Given the description of an element on the screen output the (x, y) to click on. 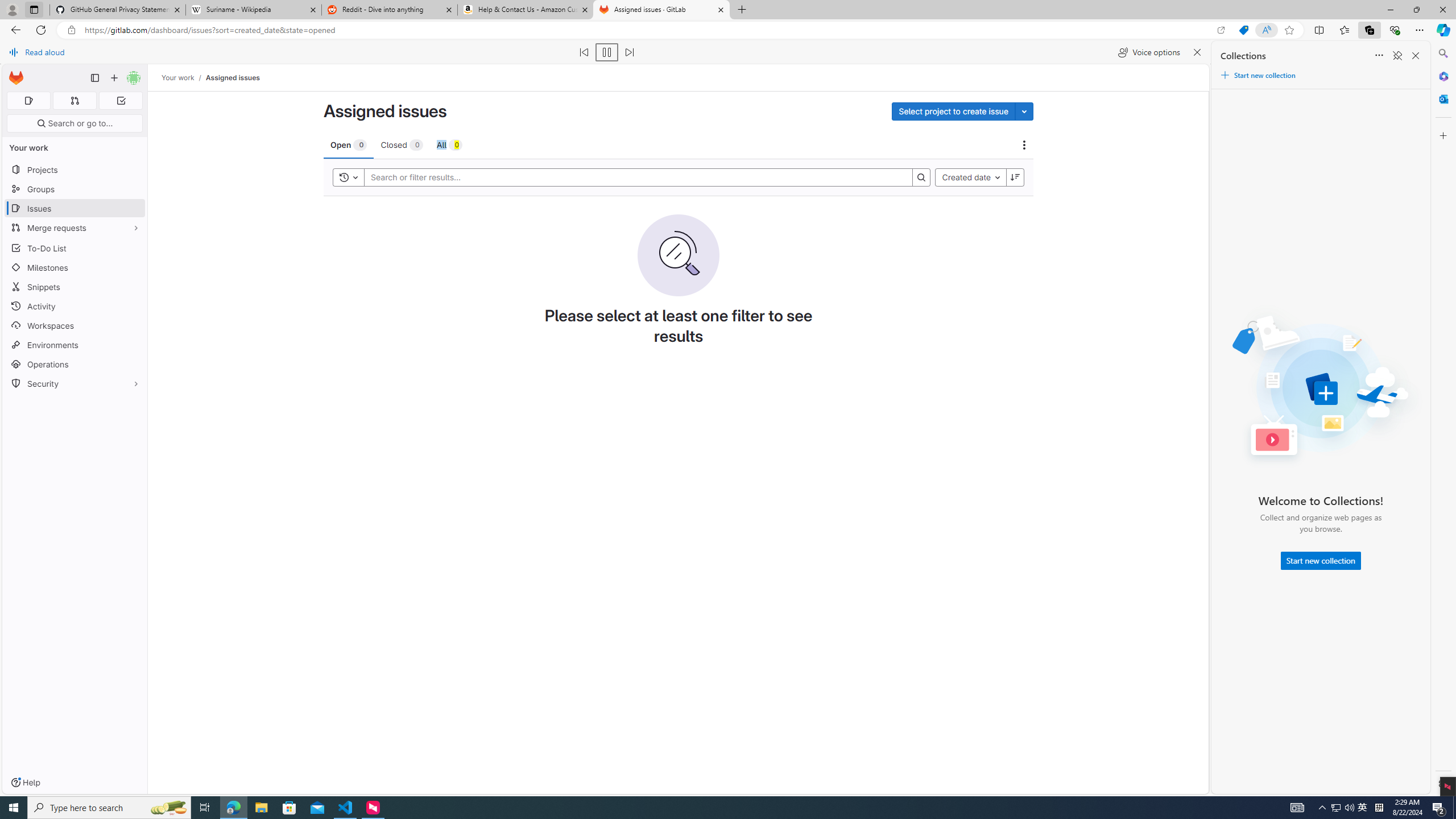
Environments (74, 344)
